Given the description of an element on the screen output the (x, y) to click on. 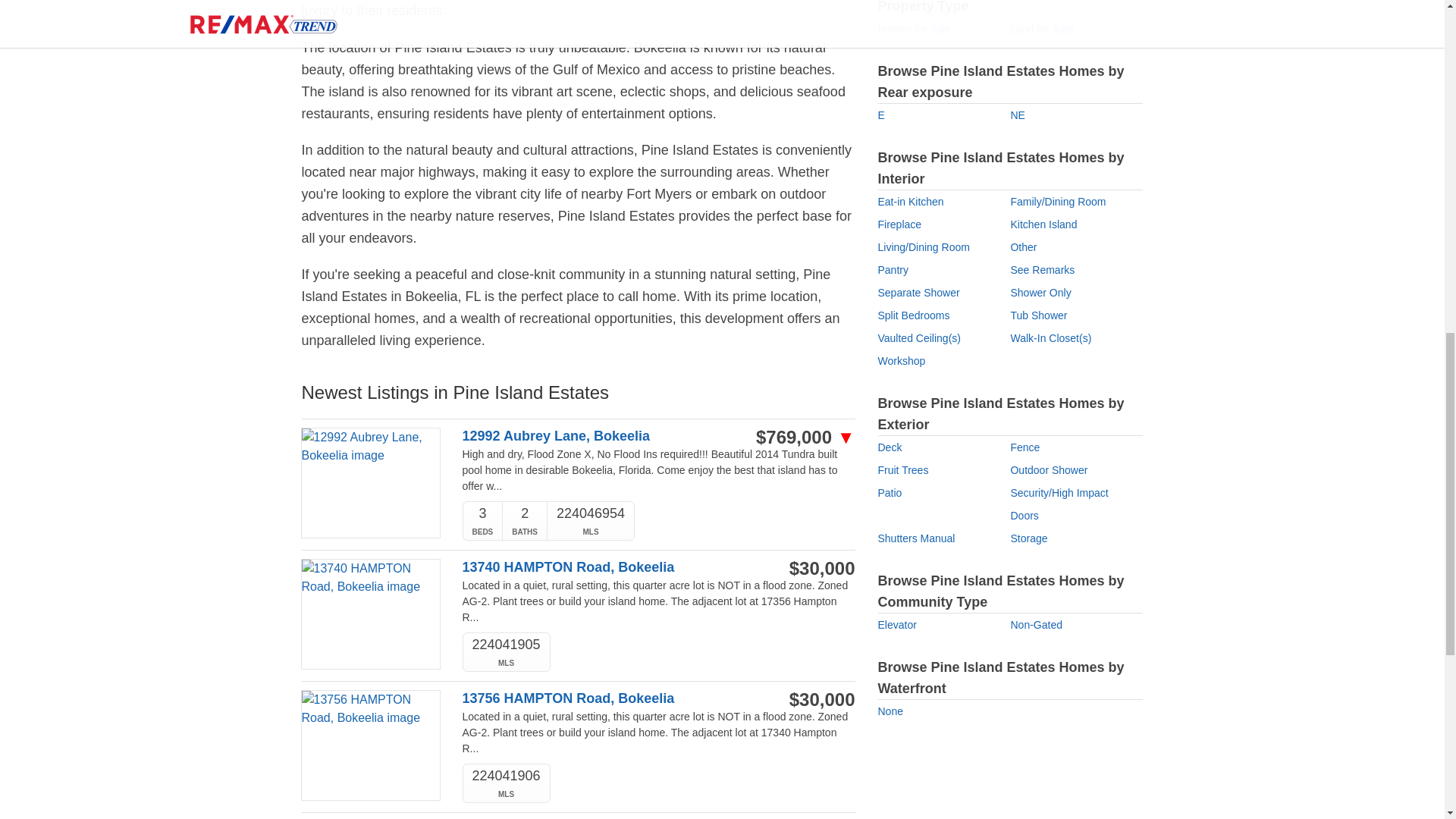
Homes for Sale (913, 28)
12992 Aubrey Lane, Bokeelia (600, 436)
E (881, 114)
Land for Sale (1041, 28)
NE (1017, 114)
Eat-in Kitchen (910, 201)
13756 HAMPTON Road, Bokeelia (600, 698)
Fireplace (899, 224)
13740 HAMPTON Road, Bokeelia (600, 567)
